Given the description of an element on the screen output the (x, y) to click on. 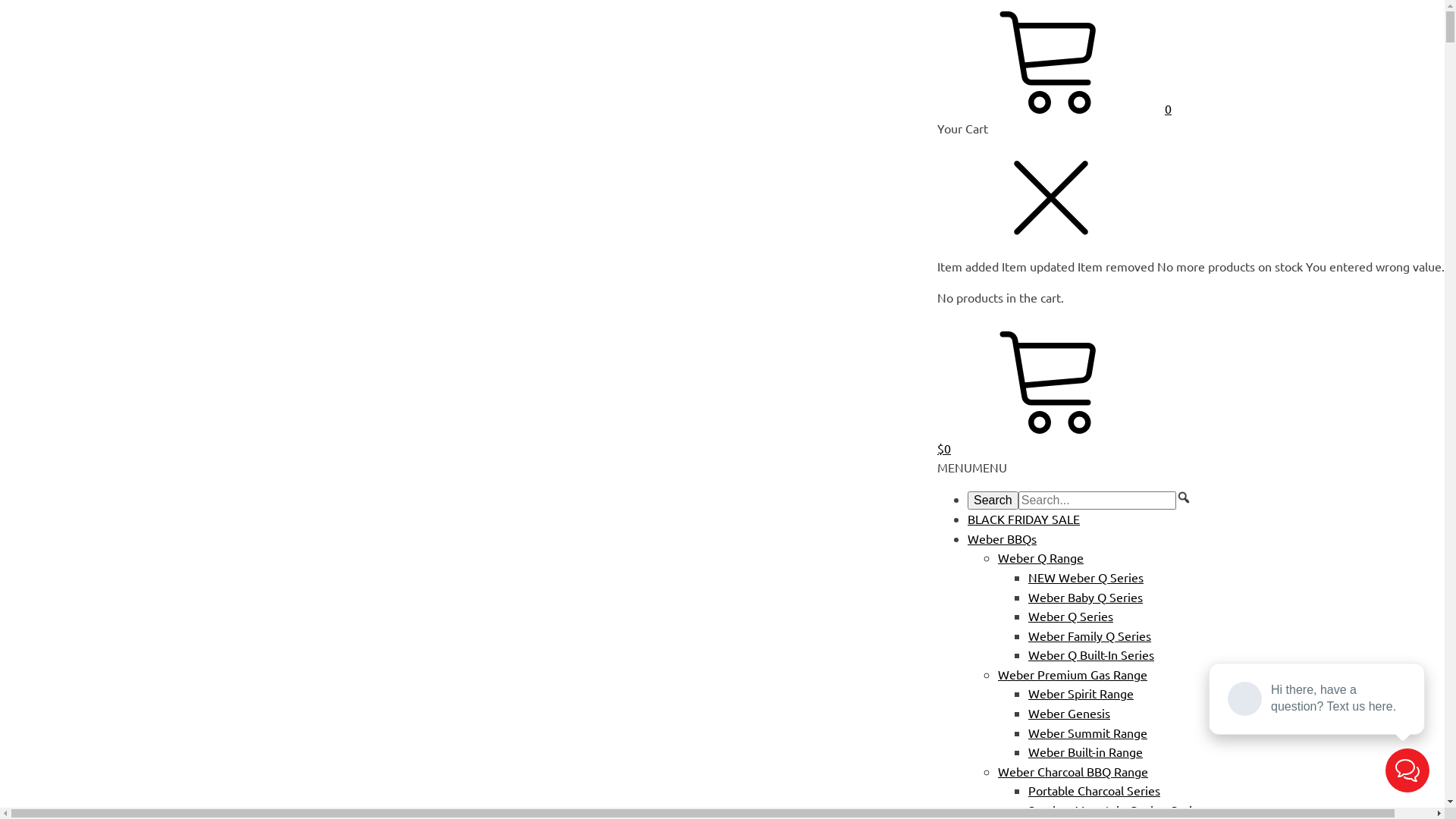
Weber BBQs Element type: text (1001, 538)
Weber Charcoal BBQ Range Element type: text (1072, 770)
Weber Genesis Element type: text (1069, 712)
Weber Built-in Range Element type: text (1085, 751)
Portable Charcoal Series Element type: text (1094, 789)
Weber Baby Q Series Element type: text (1085, 596)
$0 Element type: text (1190, 439)
Weber Q Series Element type: text (1070, 615)
Weber Family Q Series Element type: text (1089, 635)
Weber Spirit Range Element type: text (1080, 692)
NEW Weber Q Series Element type: text (1085, 576)
Weber Q Range Element type: text (1040, 556)
BLACK FRIDAY SALE Element type: text (1023, 518)
Weber Q Built-In Series Element type: text (1091, 654)
Weber Summit Range Element type: text (1087, 732)
Weber Premium Gas Range Element type: text (1072, 673)
0 Element type: text (1054, 108)
Search Element type: text (992, 500)
Smokey Mountain Cooker Series Element type: text (1116, 809)
